Given the description of an element on the screen output the (x, y) to click on. 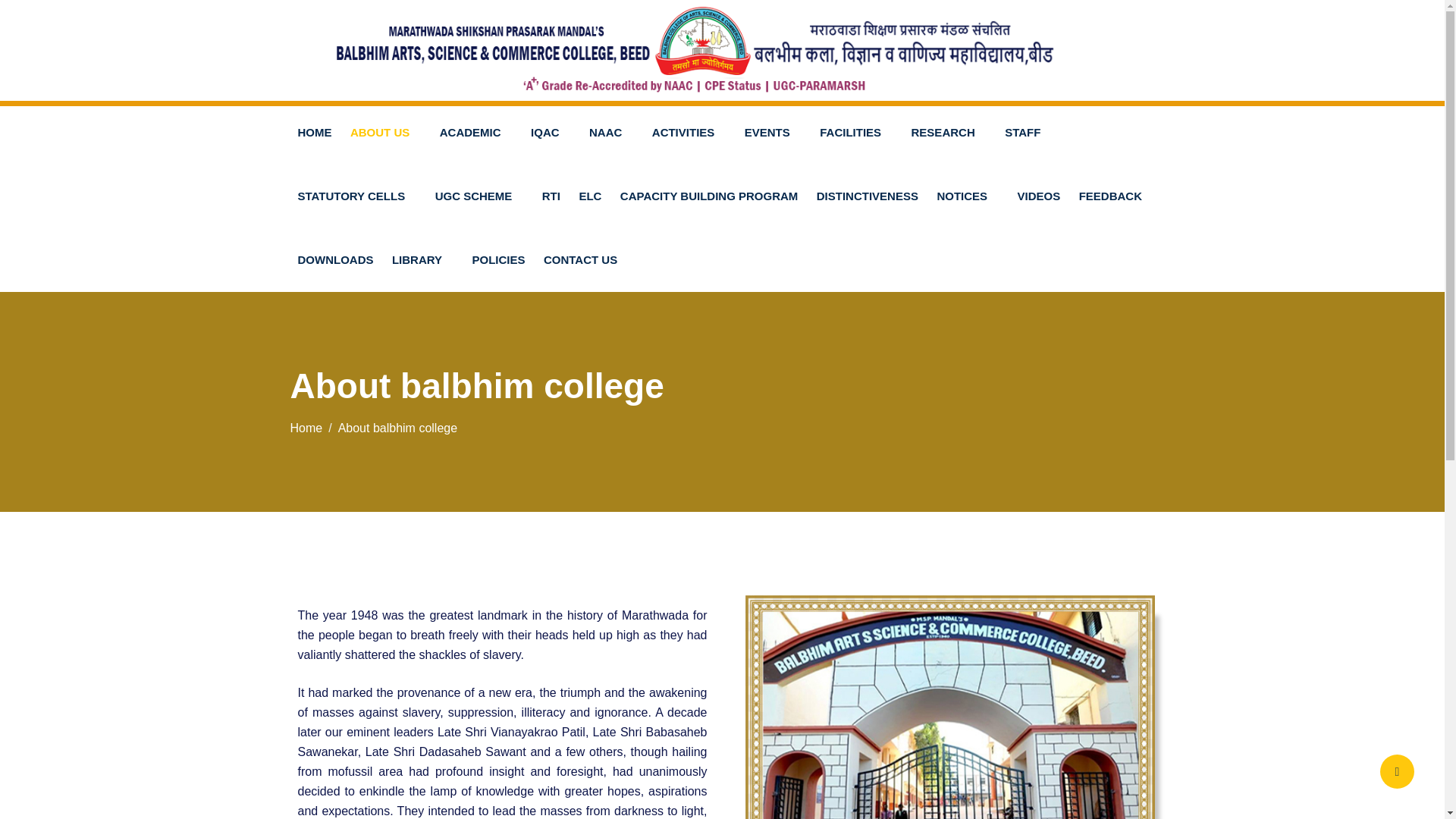
ACADEMIC (475, 132)
ABOUT US (385, 132)
